Given the description of an element on the screen output the (x, y) to click on. 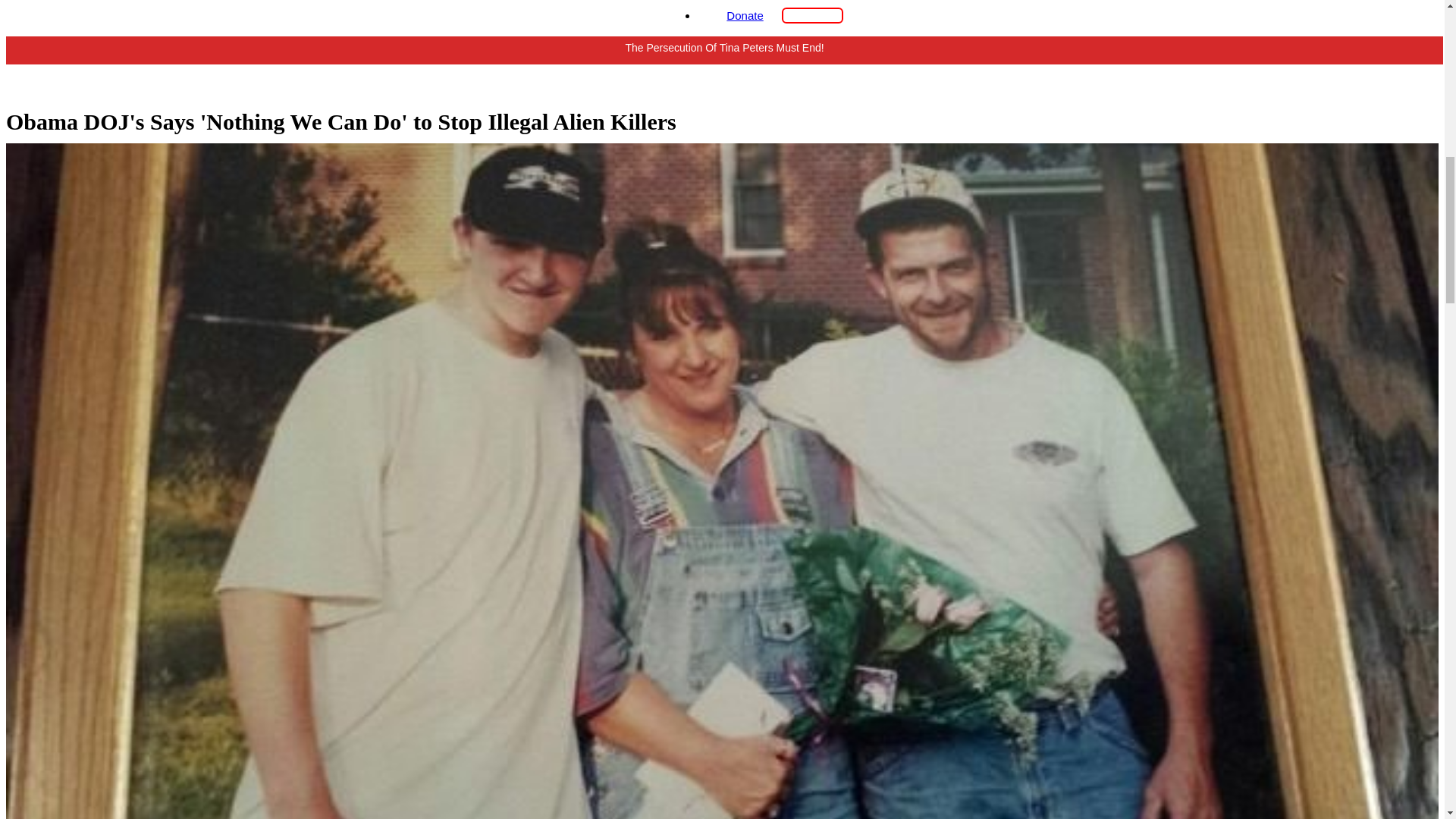
The Persecution Of Tina Peters Must End! (724, 68)
The Persecution Of Tina Peters Must End! (724, 47)
The Persecution Of Tina Peters Must End! (724, 68)
Donate (744, 15)
The Persecution Of Tina Peters Must End! (724, 47)
